Given the description of an element on the screen output the (x, y) to click on. 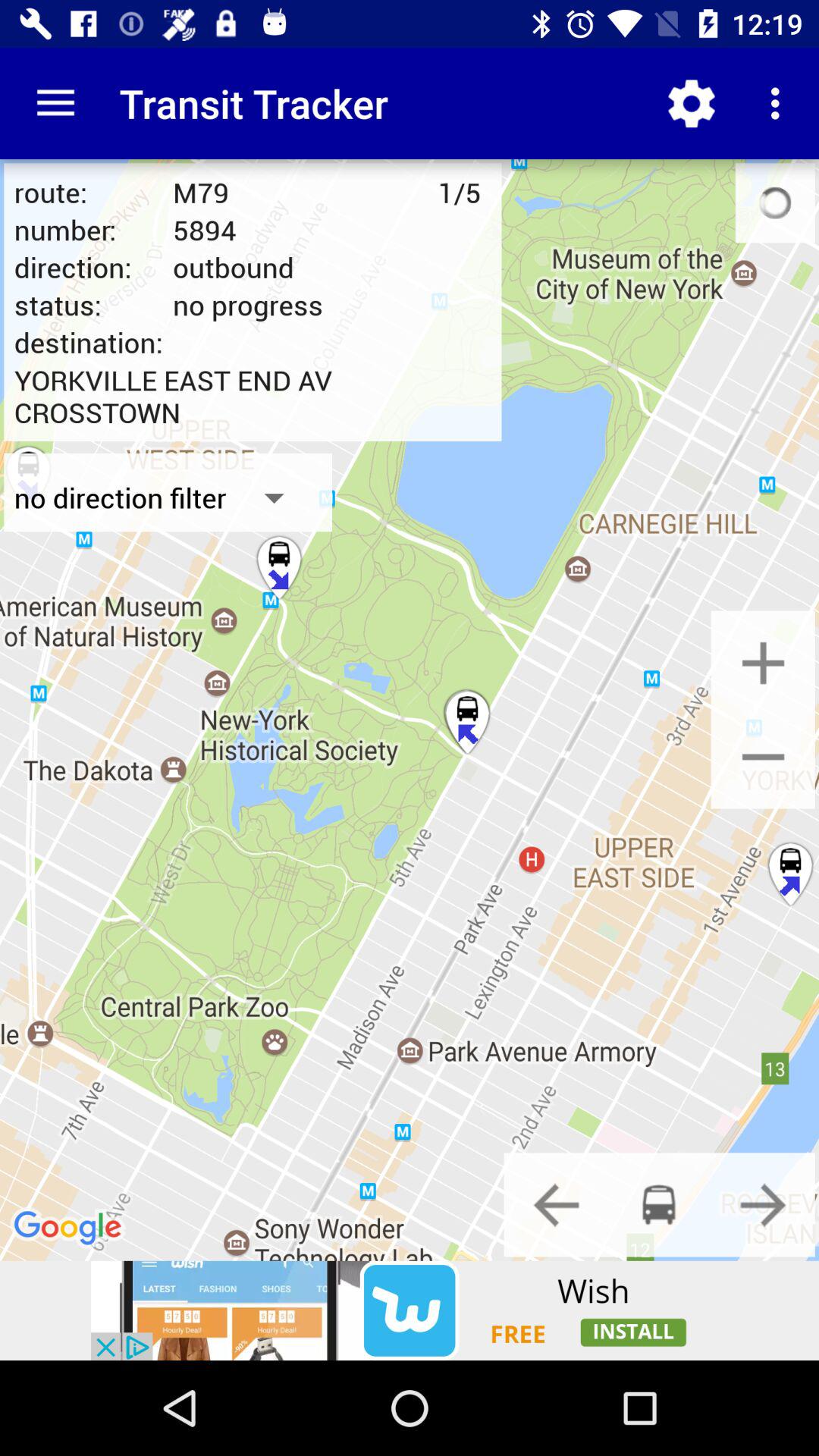
go back (555, 1204)
